Given the description of an element on the screen output the (x, y) to click on. 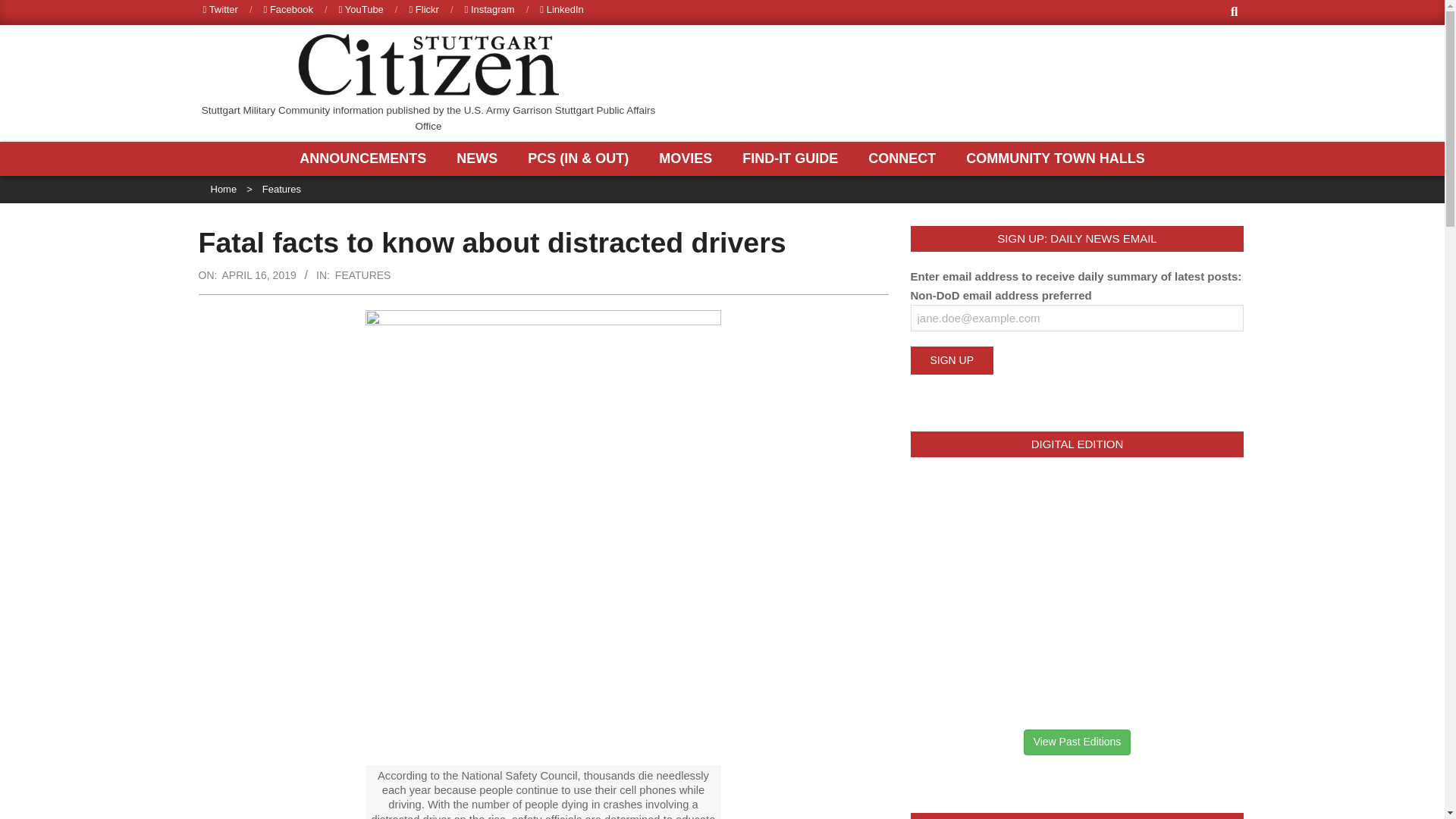
Sign up (951, 360)
YouTube (361, 9)
NEWS (480, 158)
FIND-IT GUIDE (793, 158)
MOVIES (688, 158)
Search (24, 9)
CONNECT (906, 158)
Twitter (220, 9)
Go to the Features Category archives. (281, 188)
ANNOUNCEMENTS (366, 158)
LinkedIn (561, 9)
Flickr (423, 9)
Tuesday, April 16, 2019, 11:08 am (258, 275)
Facebook (288, 9)
Instagram (489, 9)
